Given the description of an element on the screen output the (x, y) to click on. 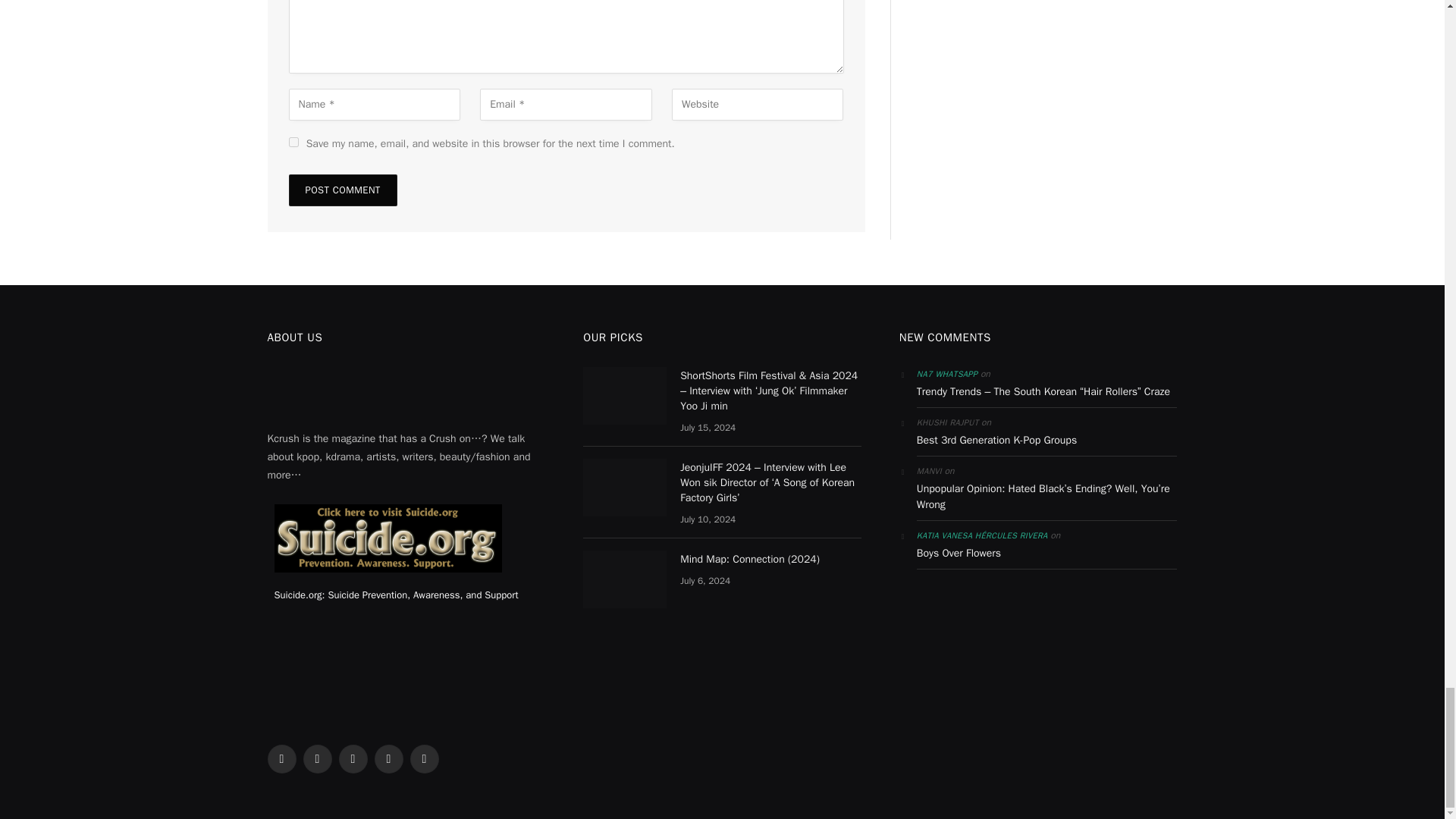
yes (293, 142)
Post Comment (342, 190)
